Given the description of an element on the screen output the (x, y) to click on. 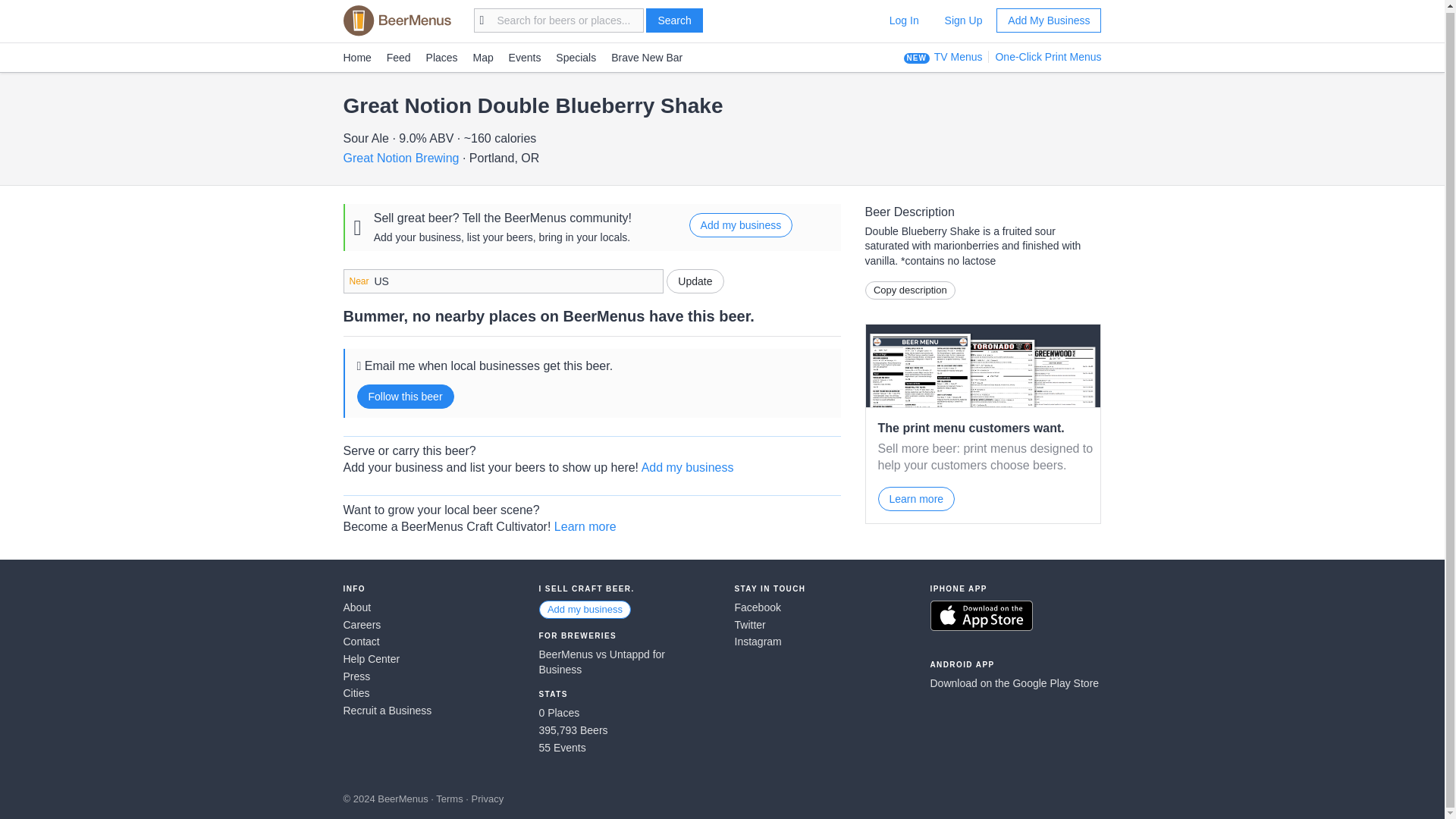
Cities (427, 693)
Follow this beer (404, 396)
BeerMenus vs Untappd for Business (624, 662)
Learn more (916, 498)
Careers (427, 625)
Great Notion Brewing (400, 157)
Download on the Google Play Store (1015, 683)
Copy description (909, 290)
Add my business (687, 467)
One-Click Print Menus (1044, 56)
Update (694, 281)
US (502, 281)
TV Menus (958, 56)
BEERMENUS (395, 20)
Follow this beer (404, 396)
